Given the description of an element on the screen output the (x, y) to click on. 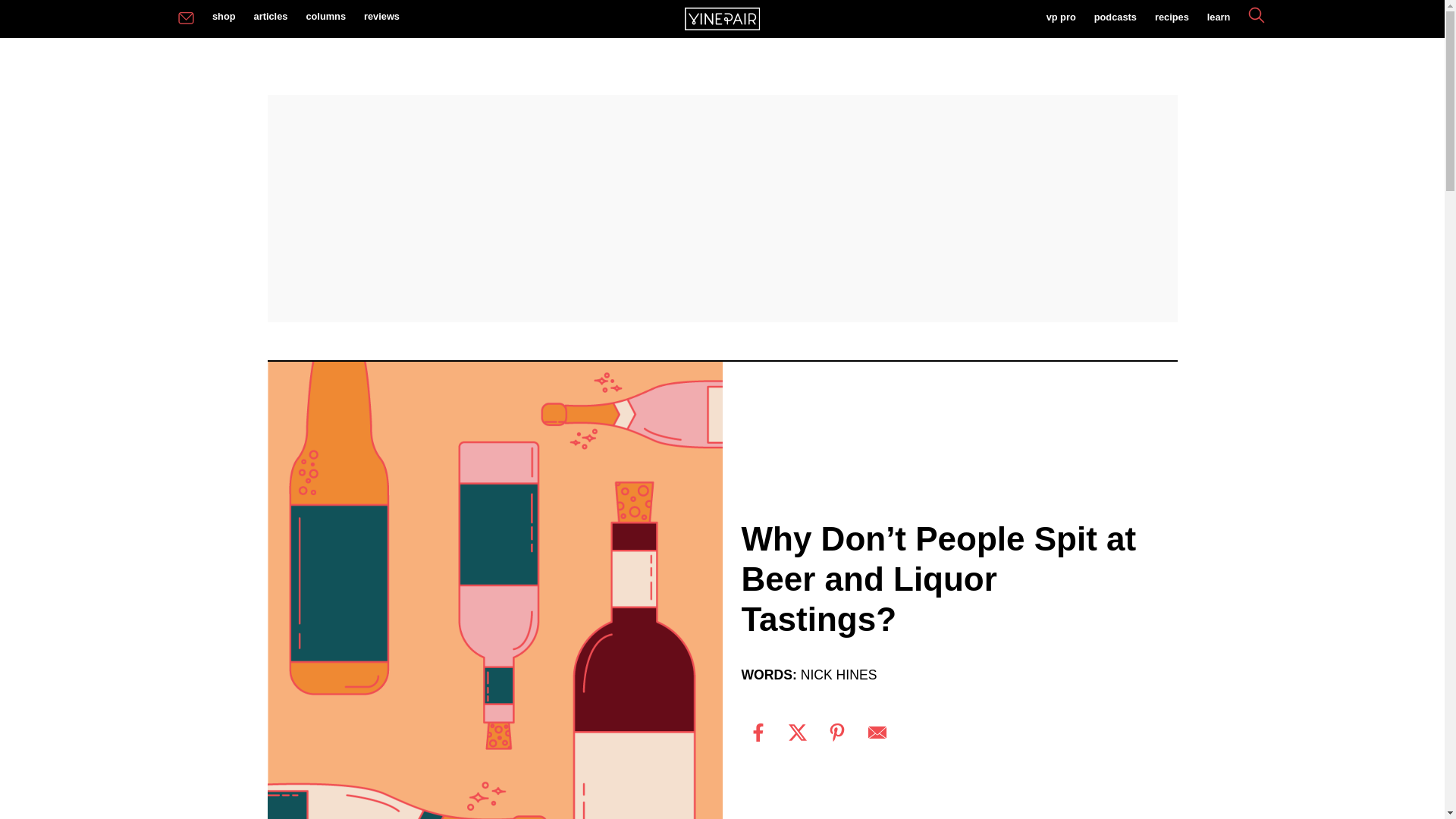
shop (223, 17)
reviews (382, 17)
3rd party ad content (721, 208)
columns (326, 17)
podcasts (1114, 17)
articles (270, 17)
vp pro (1060, 17)
